Given the description of an element on the screen output the (x, y) to click on. 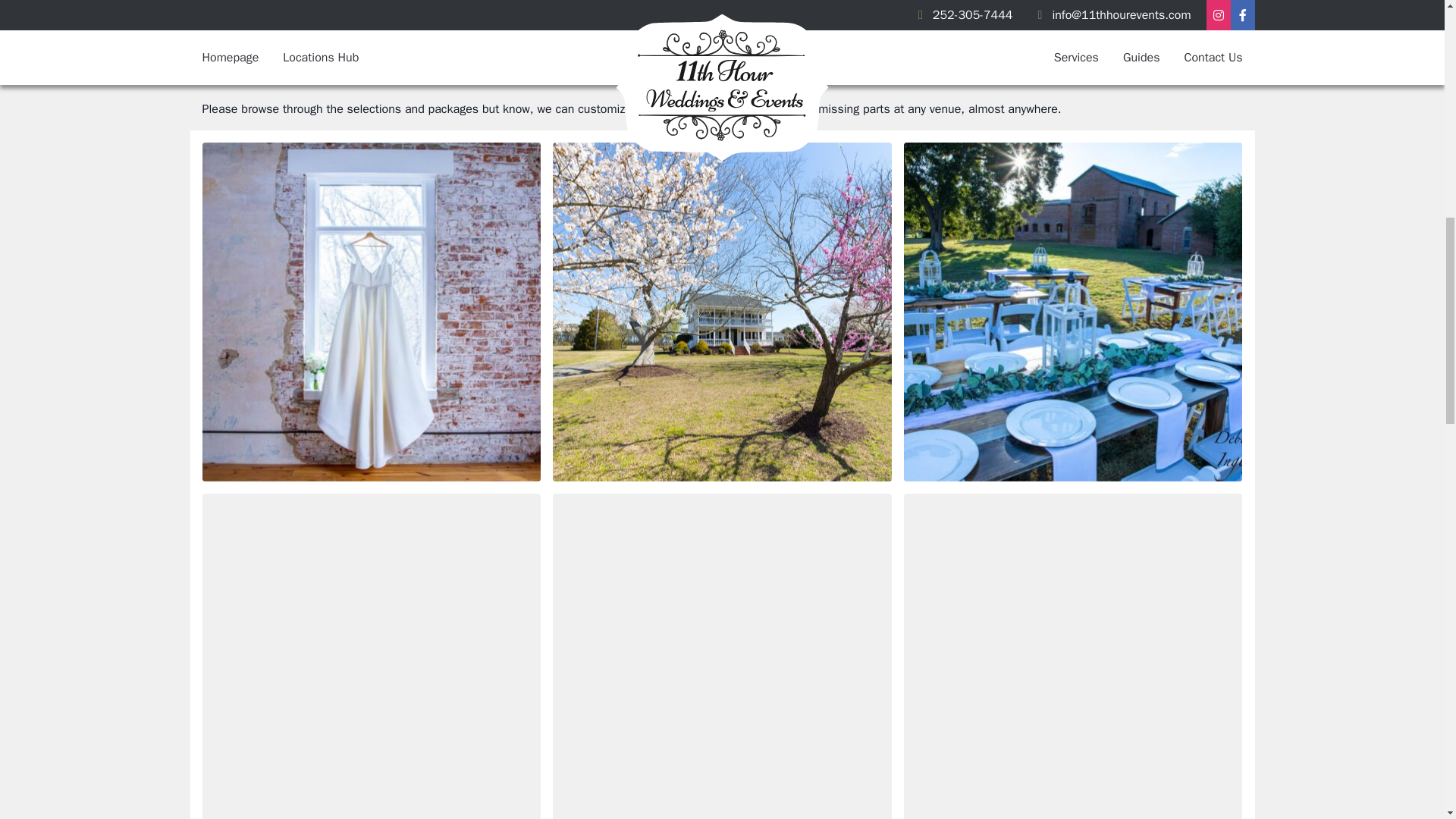
Weldon Mills Distillery (371, 311)
Ingleside Estate in Edenton (1073, 311)
Austin Event Home (1073, 656)
The Pointe Golf Club Outer Banks NC (371, 656)
Sandbridge Beach Virginia Weddings (722, 656)
The Palmer Inn Estate (722, 311)
